Given the description of an element on the screen output the (x, y) to click on. 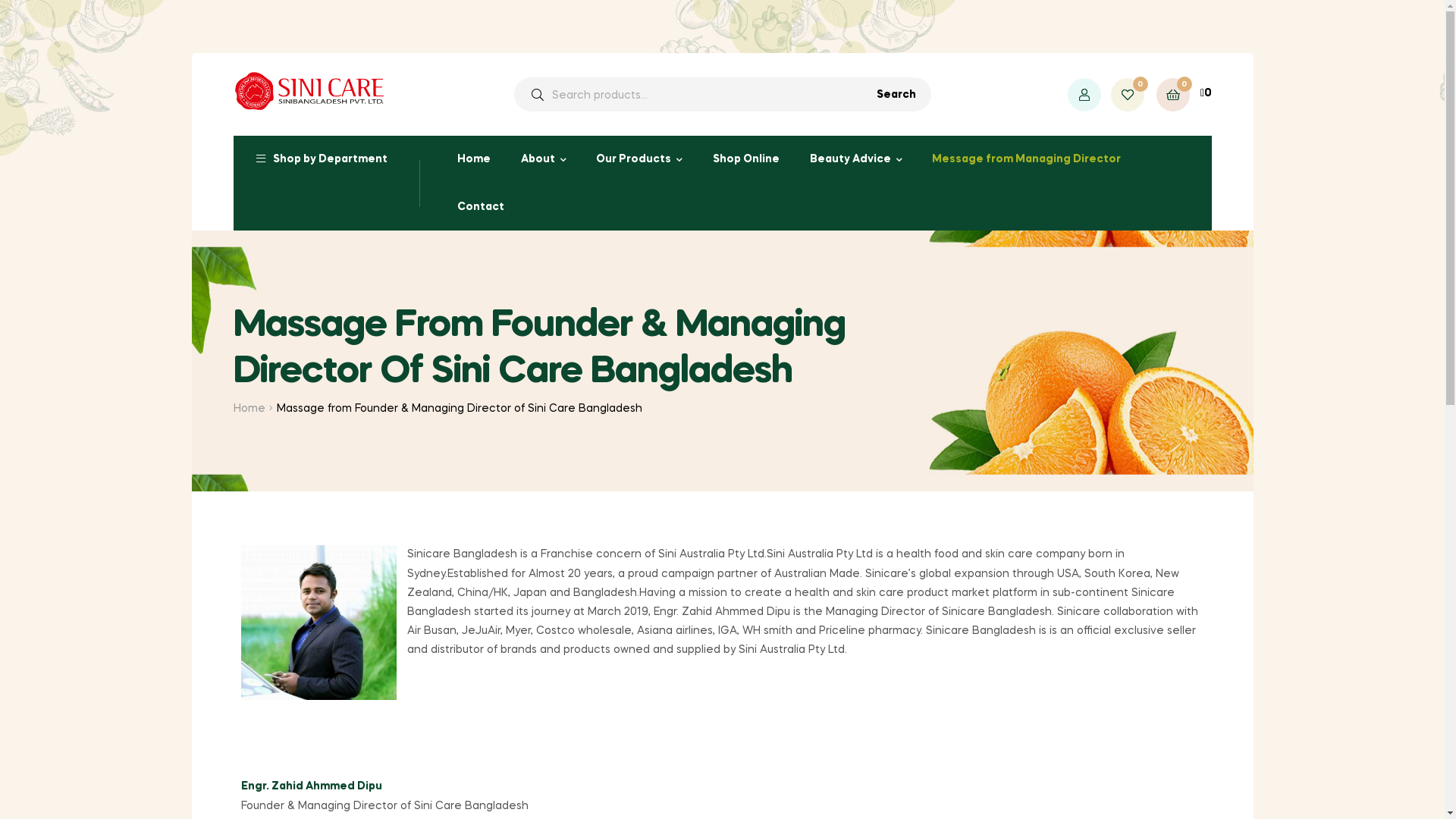
Home Element type: text (249, 408)
Search Element type: text (889, 238)
Beauty Advice Element type: text (855, 159)
0 Element type: text (1126, 94)
Shop Online Element type: text (746, 158)
Message from Managing Director Element type: text (1026, 158)
Contact Element type: text (479, 207)
About Element type: text (543, 159)
Home Element type: text (472, 158)
Search Element type: text (896, 94)
Our Products Element type: text (638, 159)
